Given the description of an element on the screen output the (x, y) to click on. 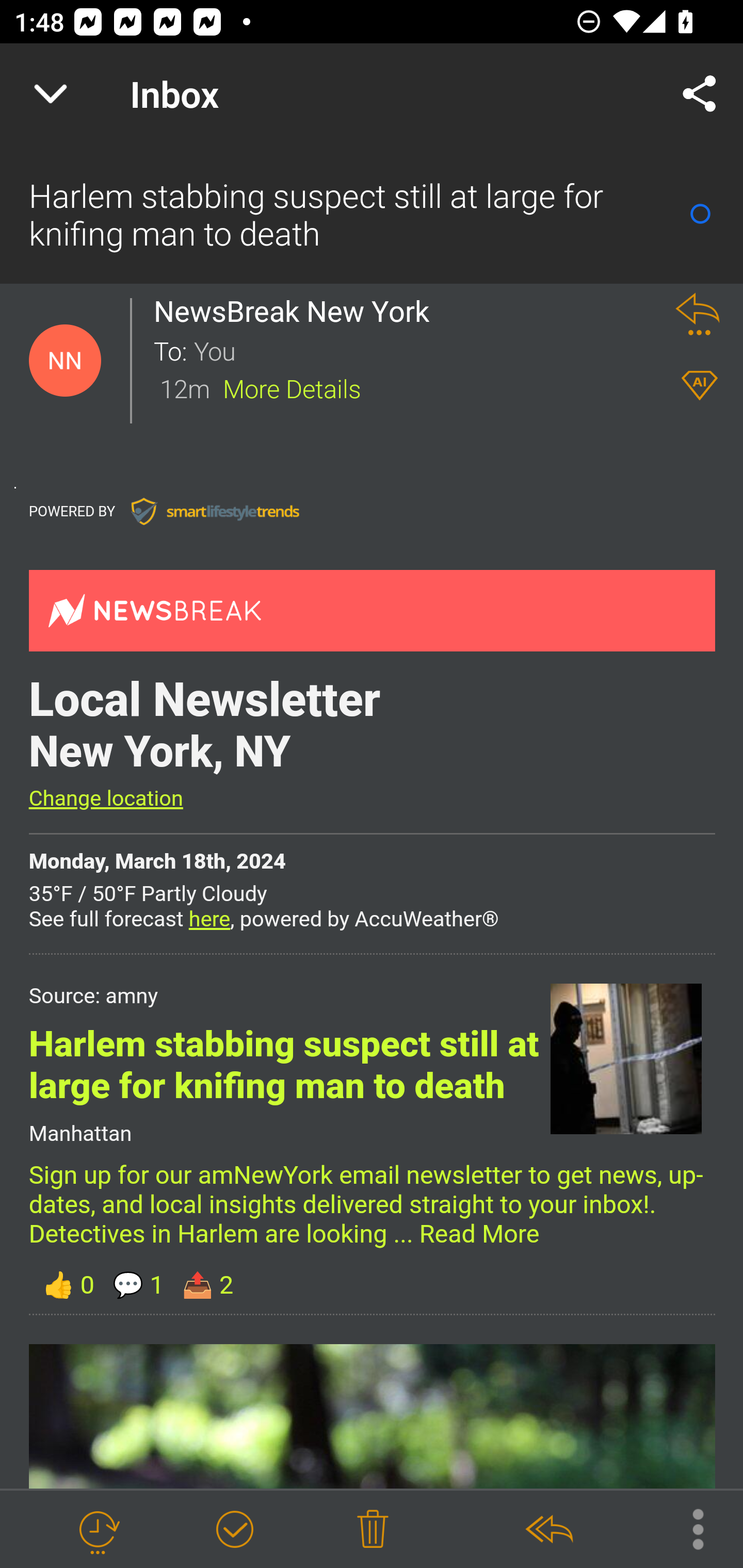
Navigate up (50, 93)
Share (699, 93)
NewsBreak New York (296, 310)
Contact Details (64, 360)
You (422, 349)
More Details (291, 387)
info (214, 510)
Change location (105, 798)
here (209, 919)
👍 0   💬 1   📤 2 (371, 1283)
2 local news image (371, 1416)
Snooze (97, 1529)
Mark as Done (234, 1529)
Delete (372, 1529)
Reply All (548, 1529)
